Given the description of an element on the screen output the (x, y) to click on. 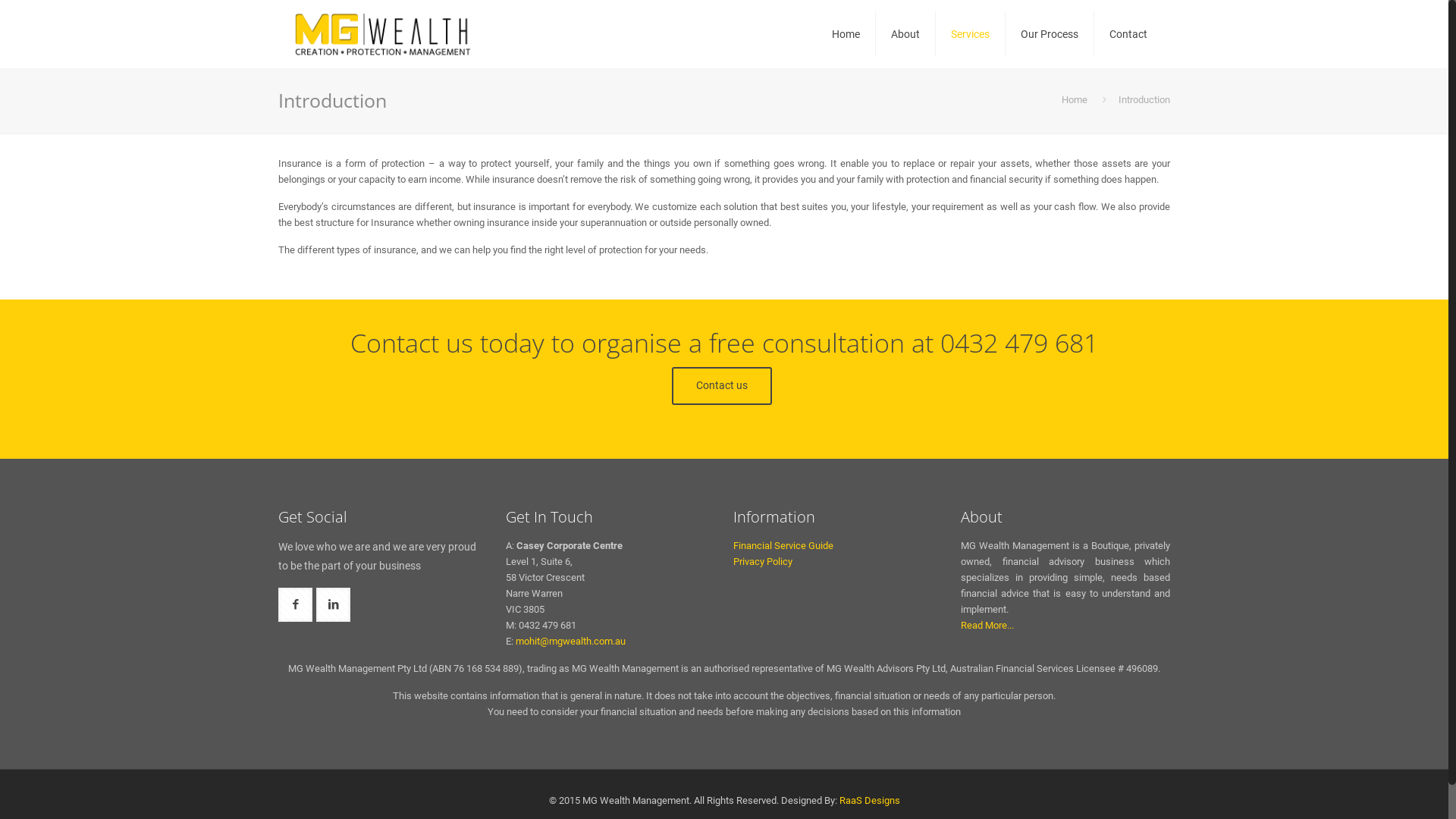
Services Element type: text (970, 34)
Contact Element type: text (1128, 34)
Our Process Element type: text (1049, 34)
Contact us Element type: text (721, 385)
Introduction Element type: text (1144, 99)
Home Element type: text (1074, 99)
mohit@mgwealth.com.au Element type: text (570, 640)
Read More... Element type: text (986, 624)
Privacy Policy Element type: text (762, 561)
Home Element type: text (845, 34)
Financial Service Guide Element type: text (783, 545)
About Element type: text (905, 34)
RaaS Designs Element type: text (868, 800)
